Given the description of an element on the screen output the (x, y) to click on. 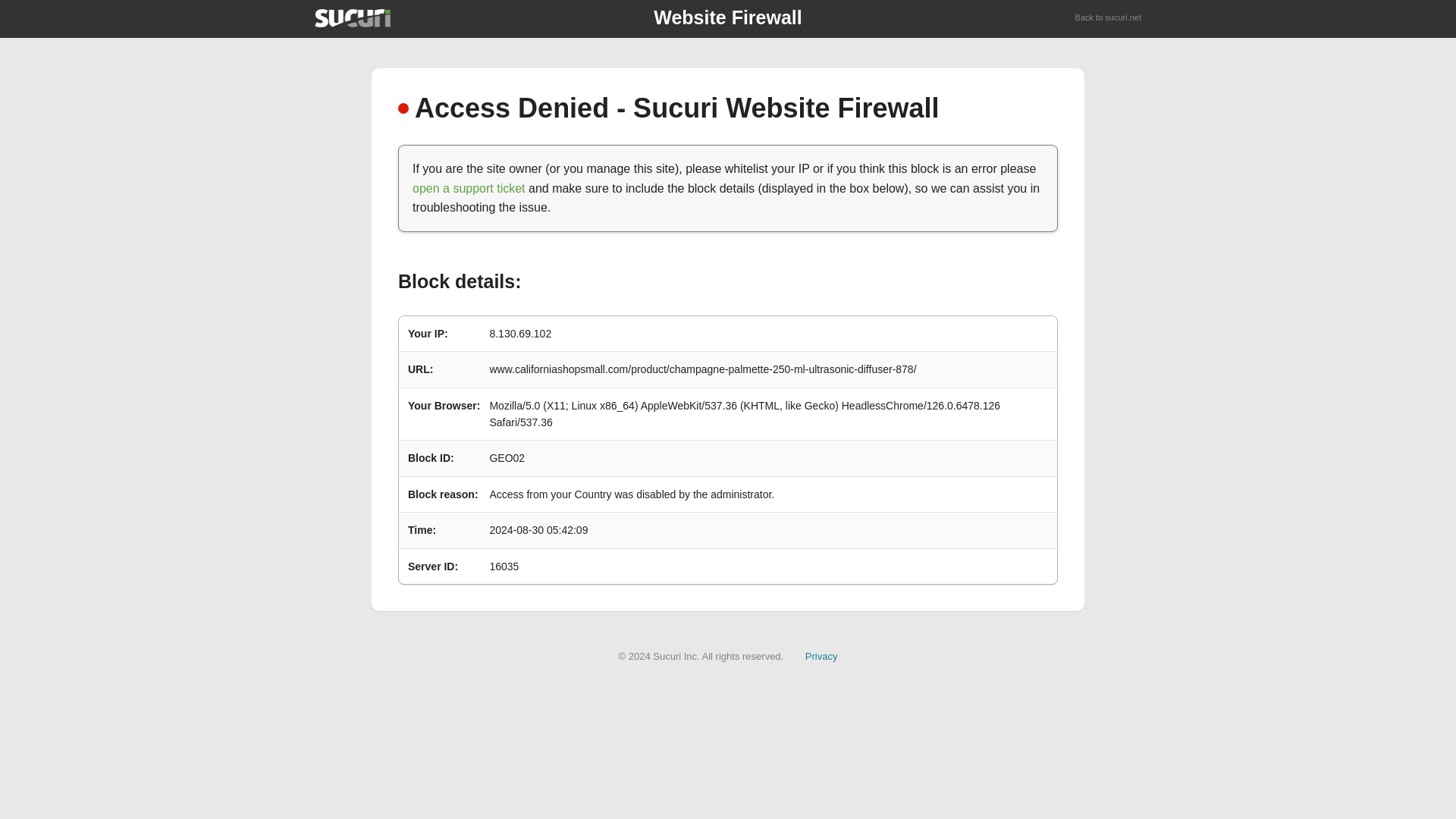
Back to sucuri.net (1108, 18)
Privacy (821, 655)
open a support ticket (468, 187)
